Given the description of an element on the screen output the (x, y) to click on. 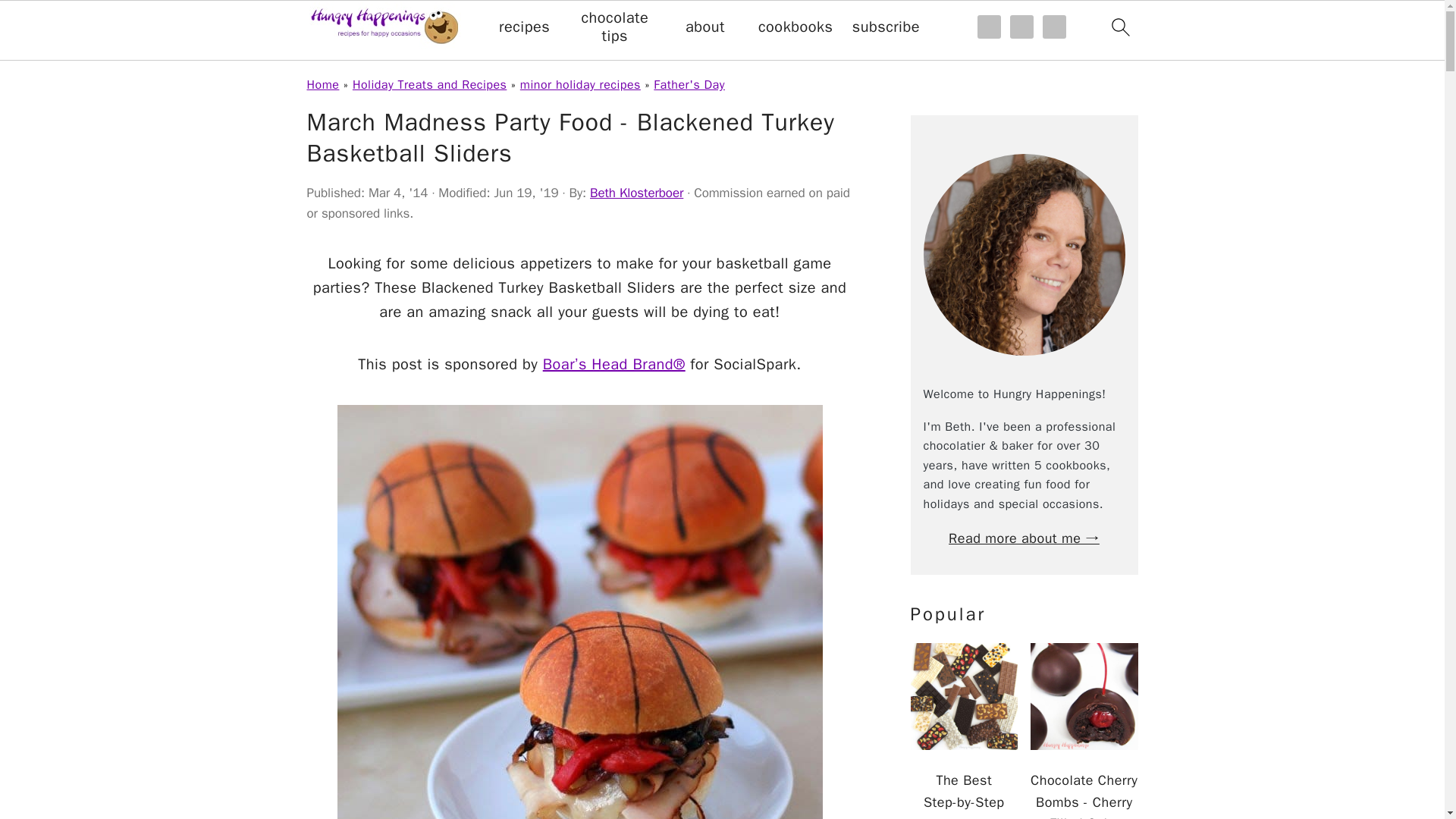
search icon (1119, 26)
